Given the description of an element on the screen output the (x, y) to click on. 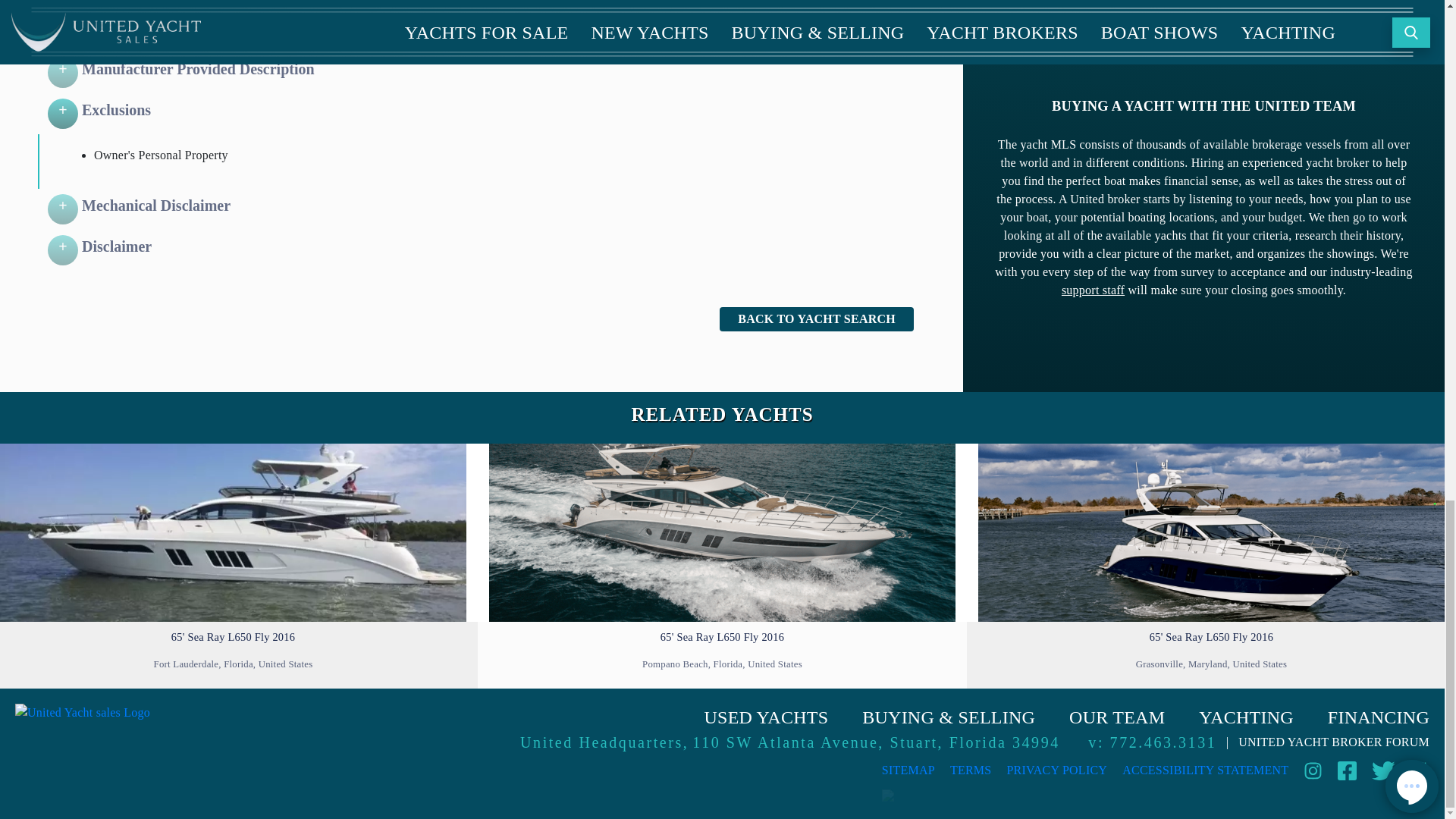
United Yacht Sales (81, 743)
